Given the description of an element on the screen output the (x, y) to click on. 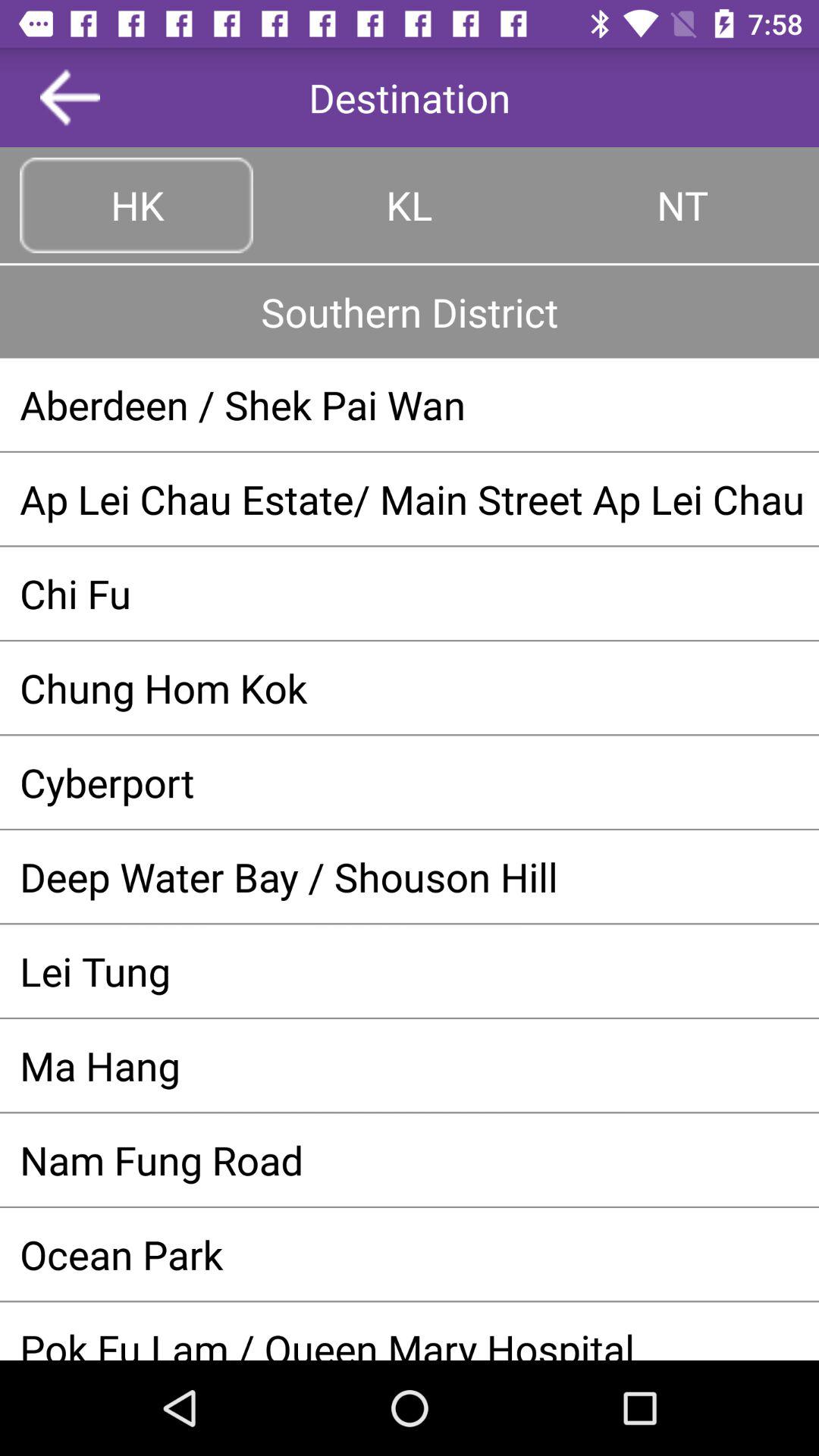
press the pok fu lam item (409, 1341)
